Given the description of an element on the screen output the (x, y) to click on. 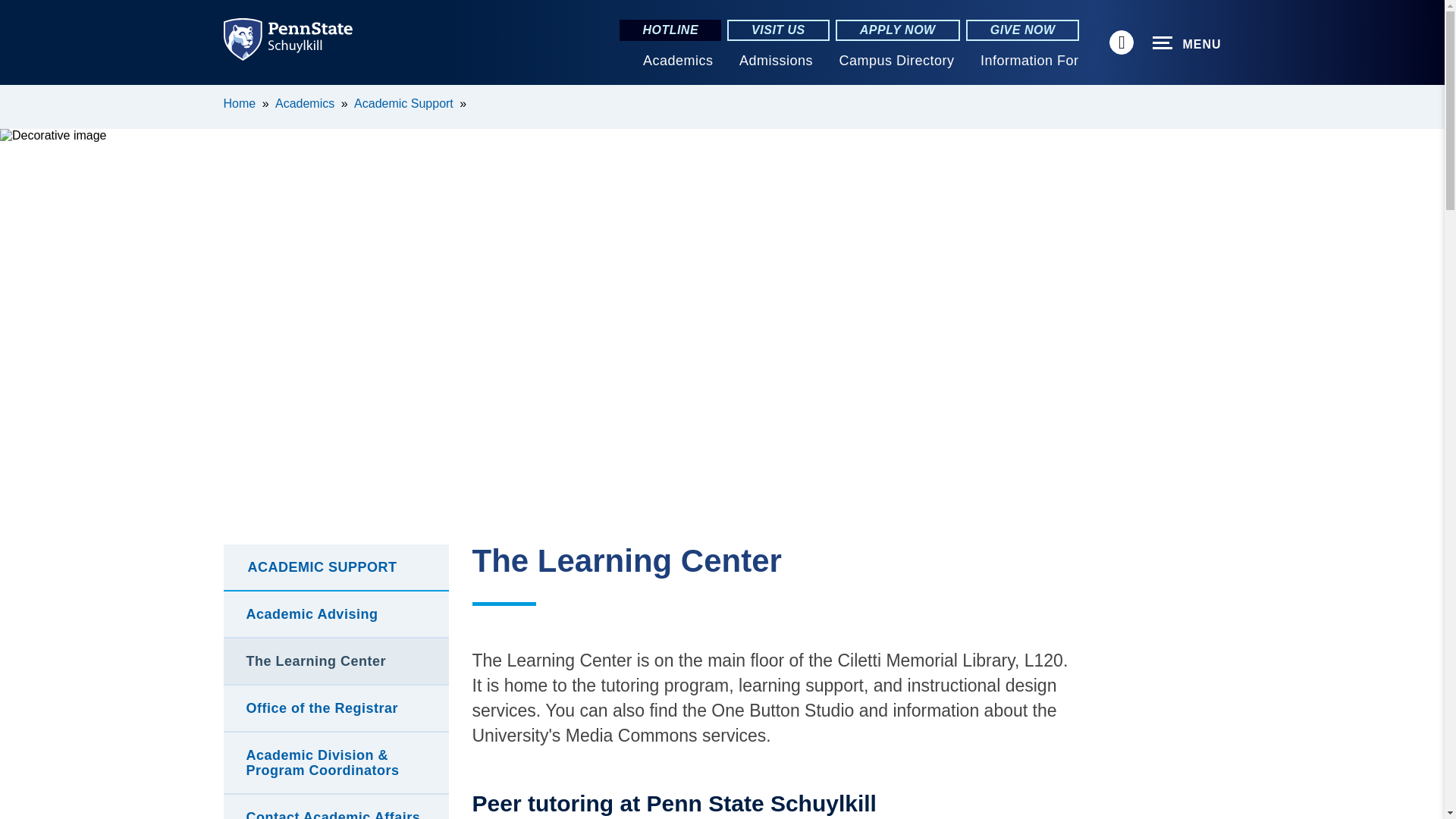
Admissions (775, 60)
VISIT US (777, 29)
Academics (678, 60)
MENU (1187, 43)
HOTLINE (670, 29)
SKIP TO MAIN CONTENT (19, 95)
APPLY NOW (897, 29)
Campus Directory (895, 60)
GIVE NOW (1023, 29)
Information For (1028, 60)
